Given the description of an element on the screen output the (x, y) to click on. 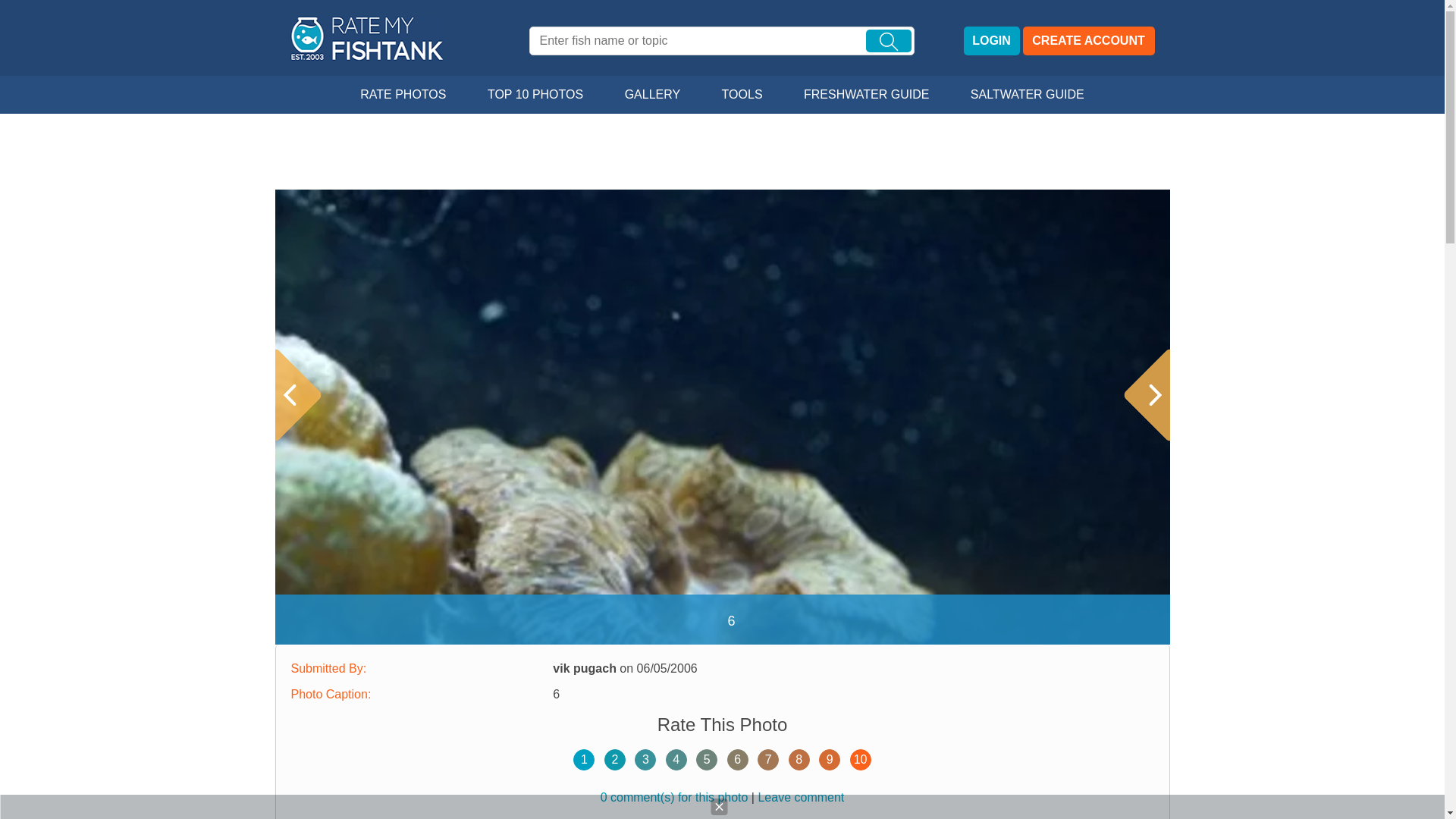
8 (799, 759)
LOGIN (990, 40)
9 (829, 759)
CREATE ACCOUNT (1088, 40)
RATE PHOTOS (402, 94)
FRESHWATER GUIDE (865, 94)
GALLERY (652, 94)
Leave comment (800, 797)
7 (767, 759)
4 (676, 759)
SALTWATER GUIDE (1027, 94)
1 (583, 759)
5 (706, 759)
3 (645, 759)
TOP 10 PHOTOS (535, 94)
